Given the description of an element on the screen output the (x, y) to click on. 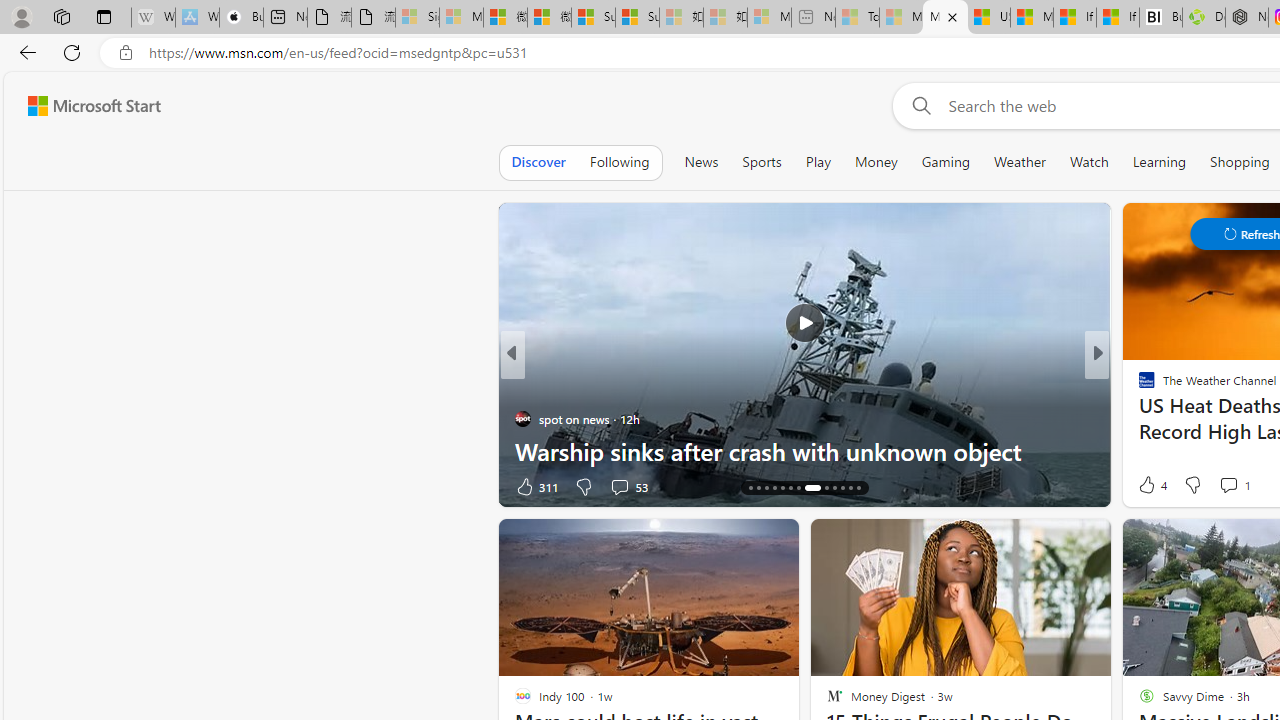
A Conscious Rethink (1138, 386)
4 Like (1151, 484)
123 Like (1151, 486)
View comments 3 Comment (1234, 485)
38 Like (1149, 486)
You're following MSNBC (445, 490)
